Given the description of an element on the screen output the (x, y) to click on. 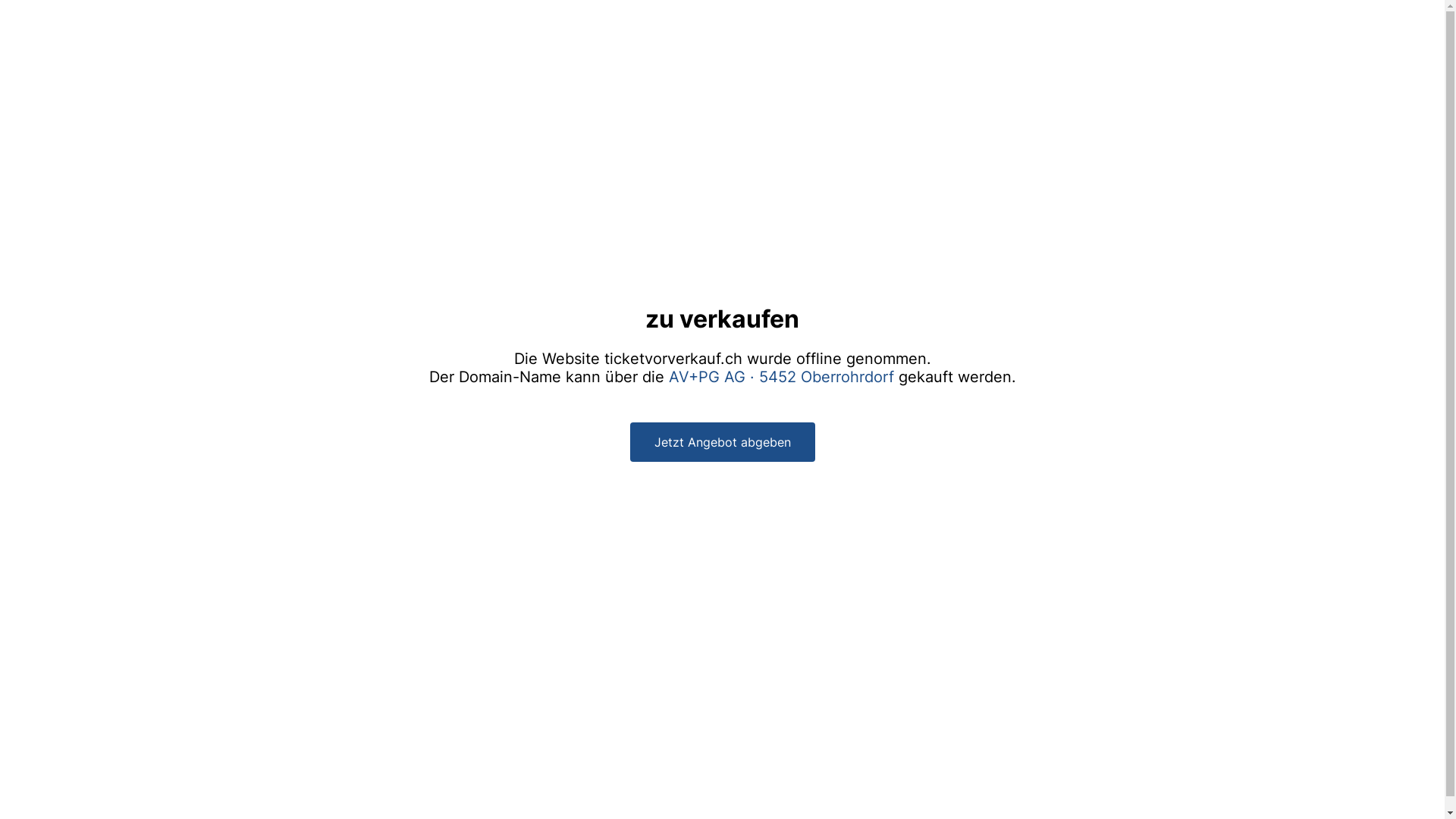
Jetzt Angebot abgeben Element type: text (721, 441)
